Given the description of an element on the screen output the (x, y) to click on. 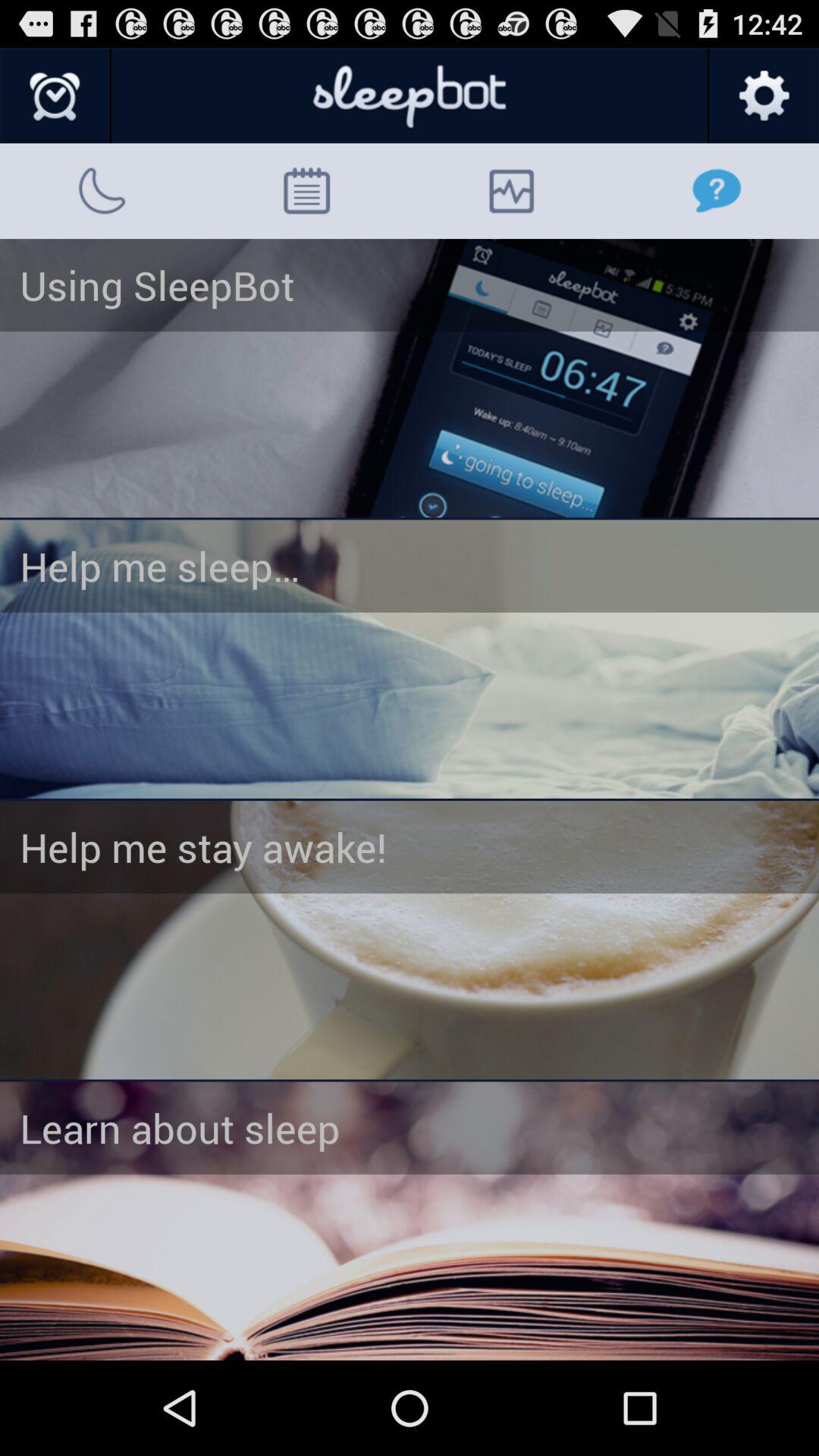
settings (763, 96)
